Given the description of an element on the screen output the (x, y) to click on. 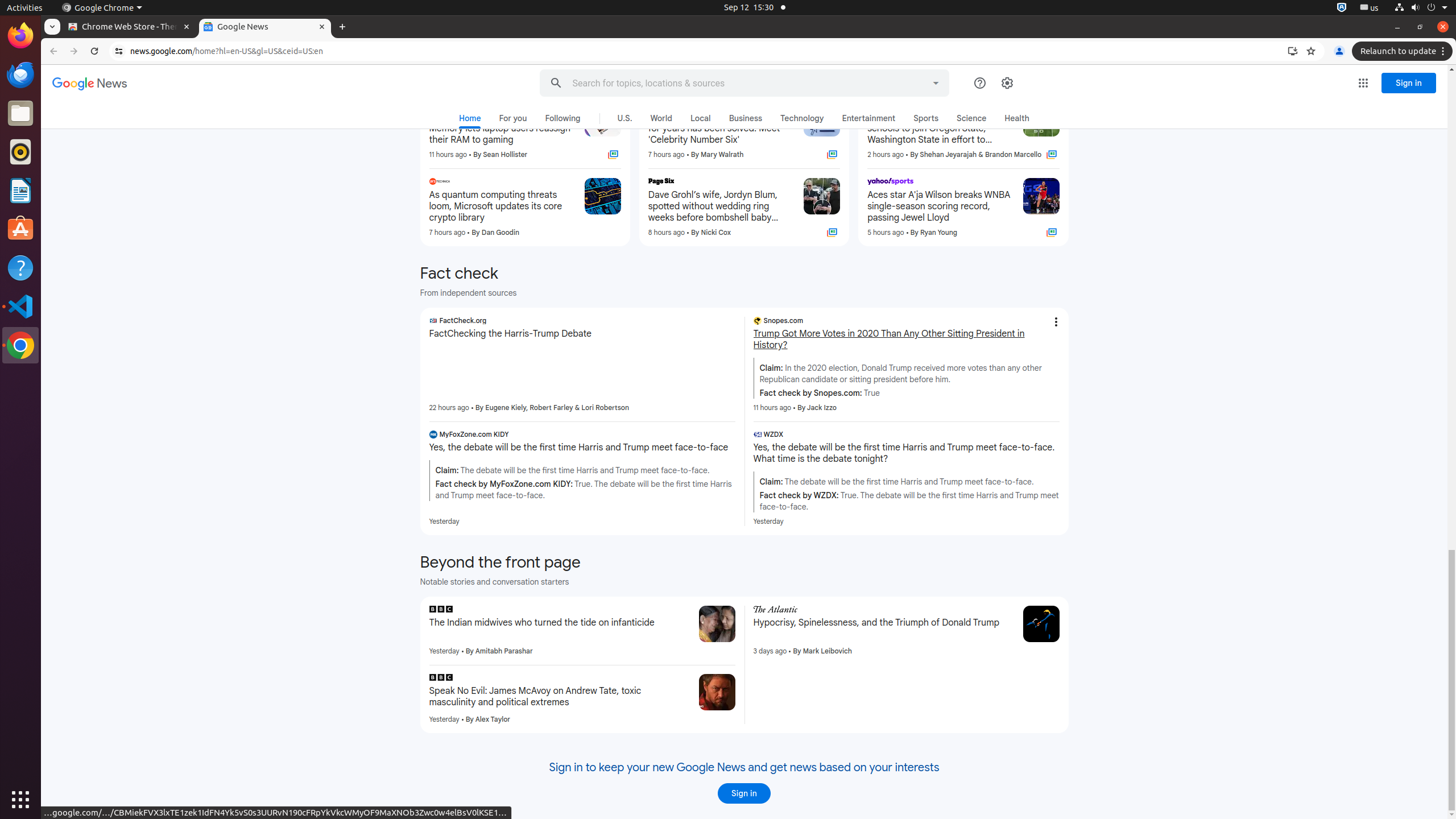
Entertainment Element type: menu-item (868, 118)
New Tab Element type: push-button (342, 26)
More - Yes, the debate will be the first time Harris and Trump meet face-to-face. What time is the debate tonight? Element type: push-button (1055, 435)
Health Element type: menu-item (1016, 118)
Yes, the debate will be the first time Harris and Trump meet face-to-face Element type: link (581, 447)
